Given the description of an element on the screen output the (x, y) to click on. 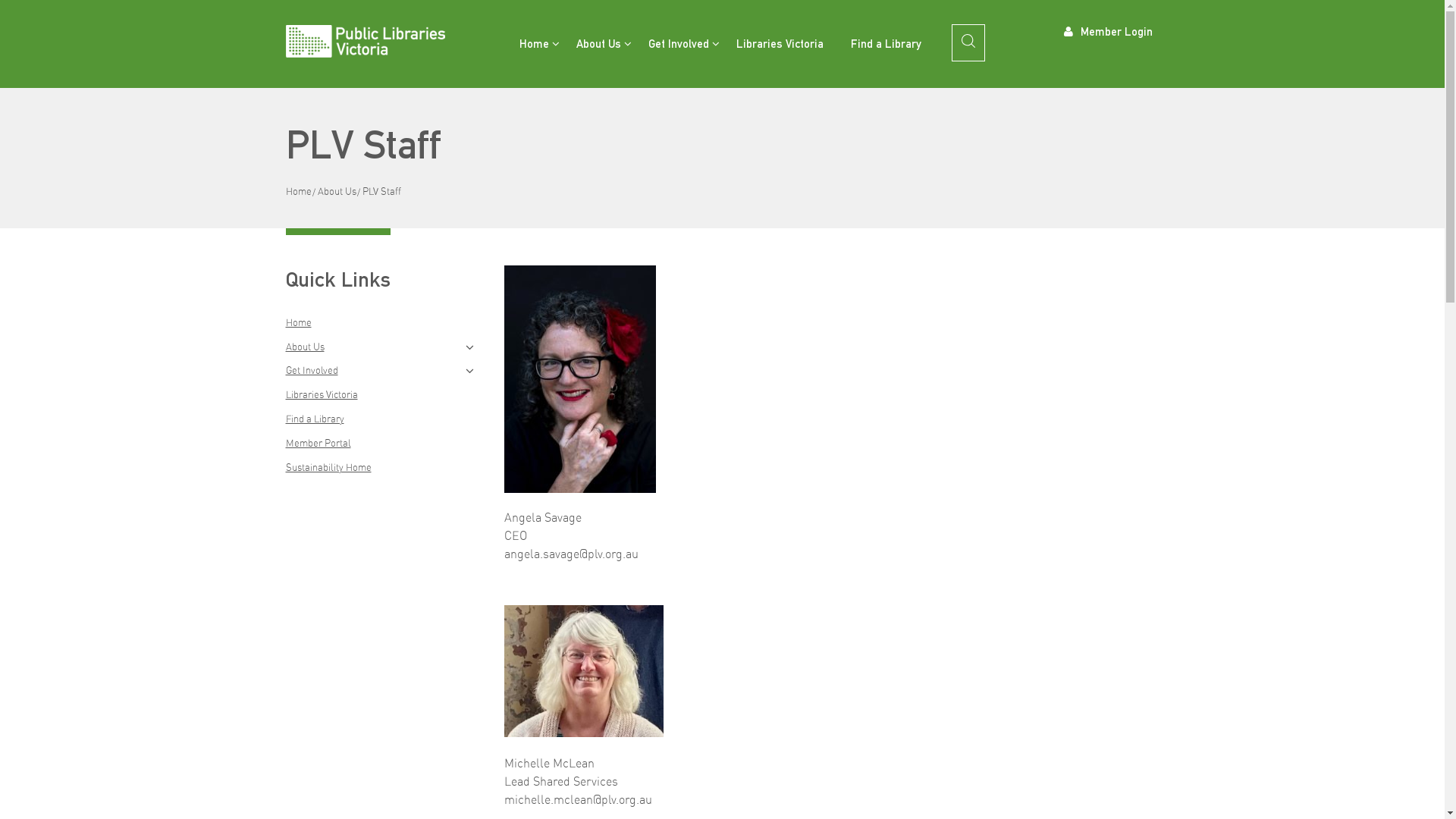
Find a Library Element type: text (885, 43)
Sustainability Home Element type: text (327, 467)
About Us Element type: text (304, 346)
Libraries Victoria Element type: text (778, 43)
Home Element type: text (297, 322)
About Us Element type: text (598, 43)
Home Element type: text (297, 191)
Find a Library Element type: text (314, 418)
Get Involved Element type: text (311, 370)
Libraries Victoria Element type: text (321, 394)
Member Portal Element type: text (317, 442)
Home Element type: text (533, 43)
Get Involved Element type: text (677, 43)
Member Login Element type: text (1107, 29)
About Us Element type: text (335, 191)
